Given the description of an element on the screen output the (x, y) to click on. 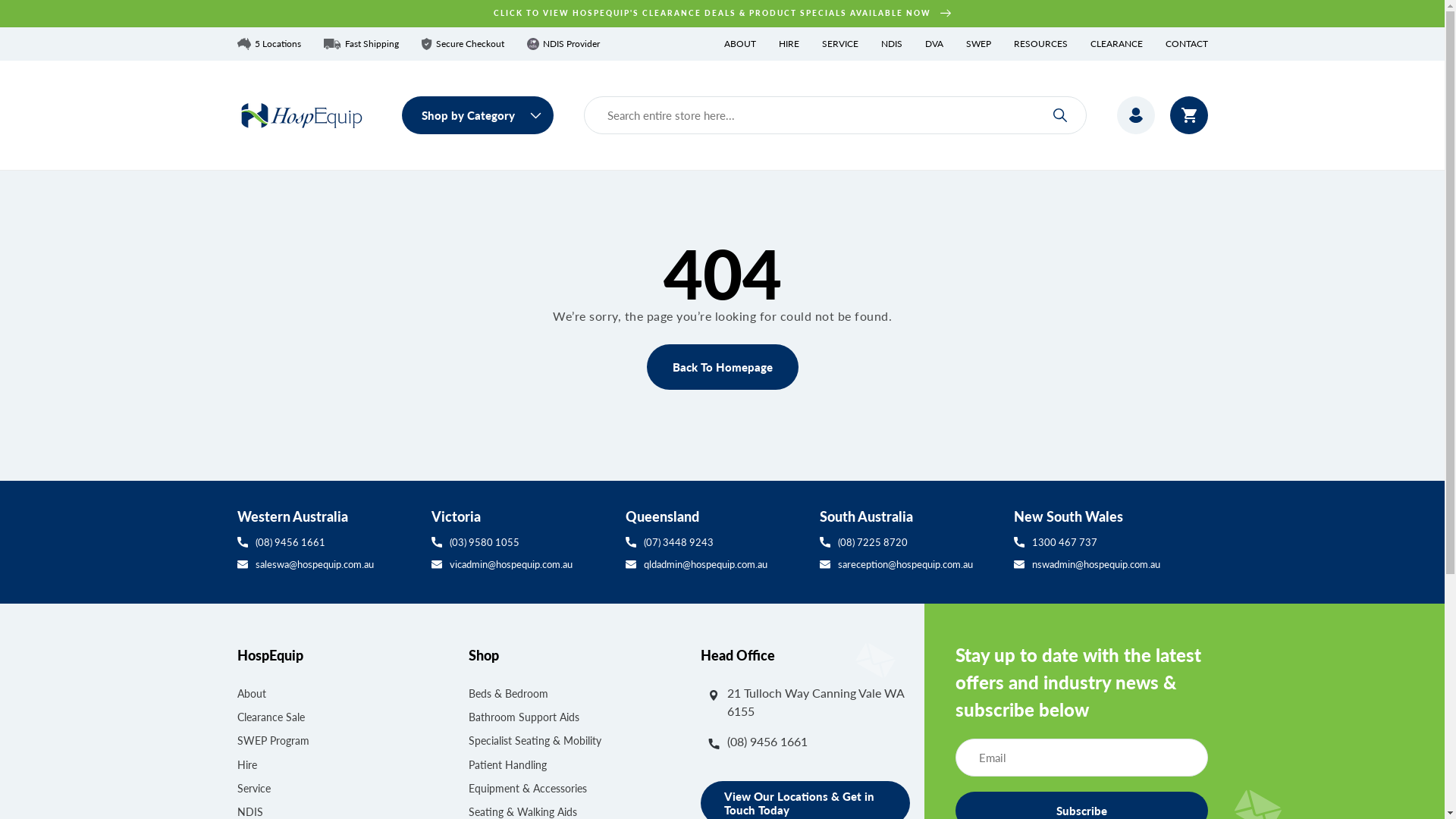
Bathroom Support Aids Element type: text (523, 716)
1300 467 737 Element type: text (1110, 542)
saleswa@hospequip.com.au Element type: text (325, 564)
Equipment & Accessories Element type: text (527, 788)
Cart Element type: text (1188, 115)
Beds & Bedroom Element type: text (508, 694)
(07) 3448 9243 Element type: text (713, 542)
Specialist Seating & Mobility Element type: text (534, 740)
ABOUT Element type: text (739, 43)
Service Element type: text (252, 788)
Hire Element type: text (246, 764)
vicadmin@hospequip.com.au Element type: text (519, 564)
CLEARANCE Element type: text (1116, 43)
(03) 9580 1055 Element type: text (519, 542)
HIRE Element type: text (788, 43)
CONTACT Element type: text (1185, 43)
(08) 7225 8720 Element type: text (908, 542)
DVA Element type: text (934, 43)
Patient Handling Element type: text (507, 764)
NDIS Element type: text (891, 43)
Clearance Sale Element type: text (270, 716)
nswadmin@hospequip.com.au Element type: text (1110, 564)
SWEP Program Element type: text (272, 740)
SERVICE Element type: text (840, 43)
(08) 9456 1661 Element type: text (325, 542)
sareception@hospequip.com.au Element type: text (908, 564)
About Element type: text (250, 694)
Log in Element type: text (1135, 115)
RESOURCES Element type: text (1039, 43)
SWEP Element type: text (978, 43)
Back To Homepage Element type: text (721, 366)
qldadmin@hospequip.com.au Element type: text (713, 564)
